Given the description of an element on the screen output the (x, y) to click on. 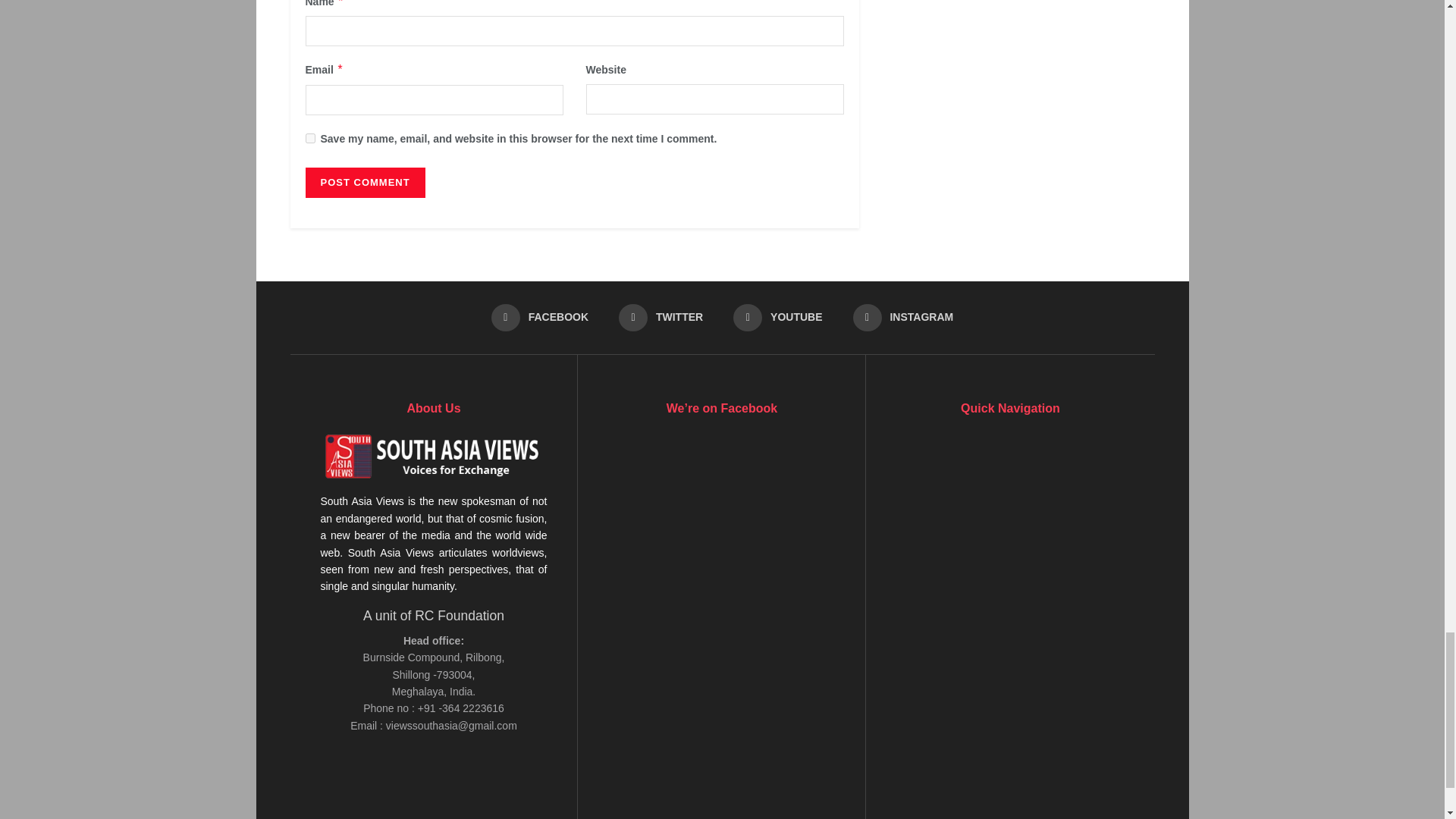
Post Comment (364, 182)
yes (309, 138)
